Given the description of an element on the screen output the (x, y) to click on. 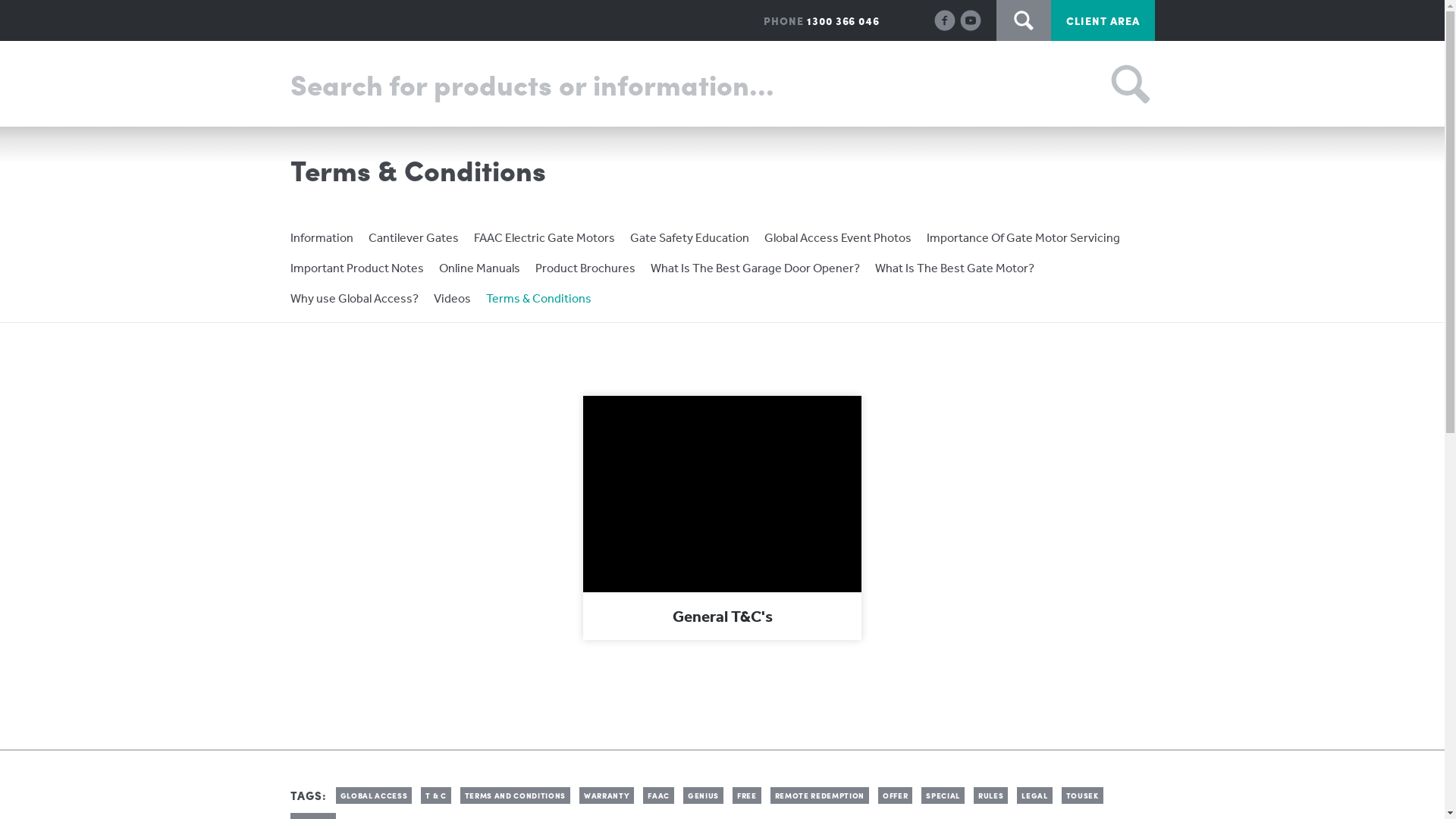
SERVICES Element type: text (808, 83)
SUPPORT Element type: text (714, 83)
Global Access Event Photos Element type: text (837, 237)
VIDEOS Element type: text (895, 83)
Terms & Conditions Element type: text (537, 297)
Facebook Element type: hover (944, 18)
Importance Of Gate Motor Servicing Element type: text (1023, 237)
INFORMATION Element type: text (999, 83)
YouTube Element type: hover (970, 18)
BRANDS Element type: text (627, 83)
CLIENT AREA Element type: text (1102, 20)
Videos Element type: text (451, 297)
COMPANY Element type: text (1113, 83)
Why use Global Access? Element type: text (353, 297)
Important Product Notes Element type: text (356, 267)
Cantilever Gates Element type: text (413, 237)
PRODUCTS Element type: text (533, 83)
What Is The Best Garage Door Opener? Element type: text (754, 267)
What Is The Best Gate Motor? Element type: text (954, 267)
FAAC Electric Gate Motors Element type: text (543, 237)
Information Element type: text (320, 237)
Product Brochures Element type: text (585, 267)
Gate Safety Education Element type: text (688, 237)
General T&C's Element type: text (722, 517)
Online Manuals Element type: text (478, 267)
